Given the description of an element on the screen output the (x, y) to click on. 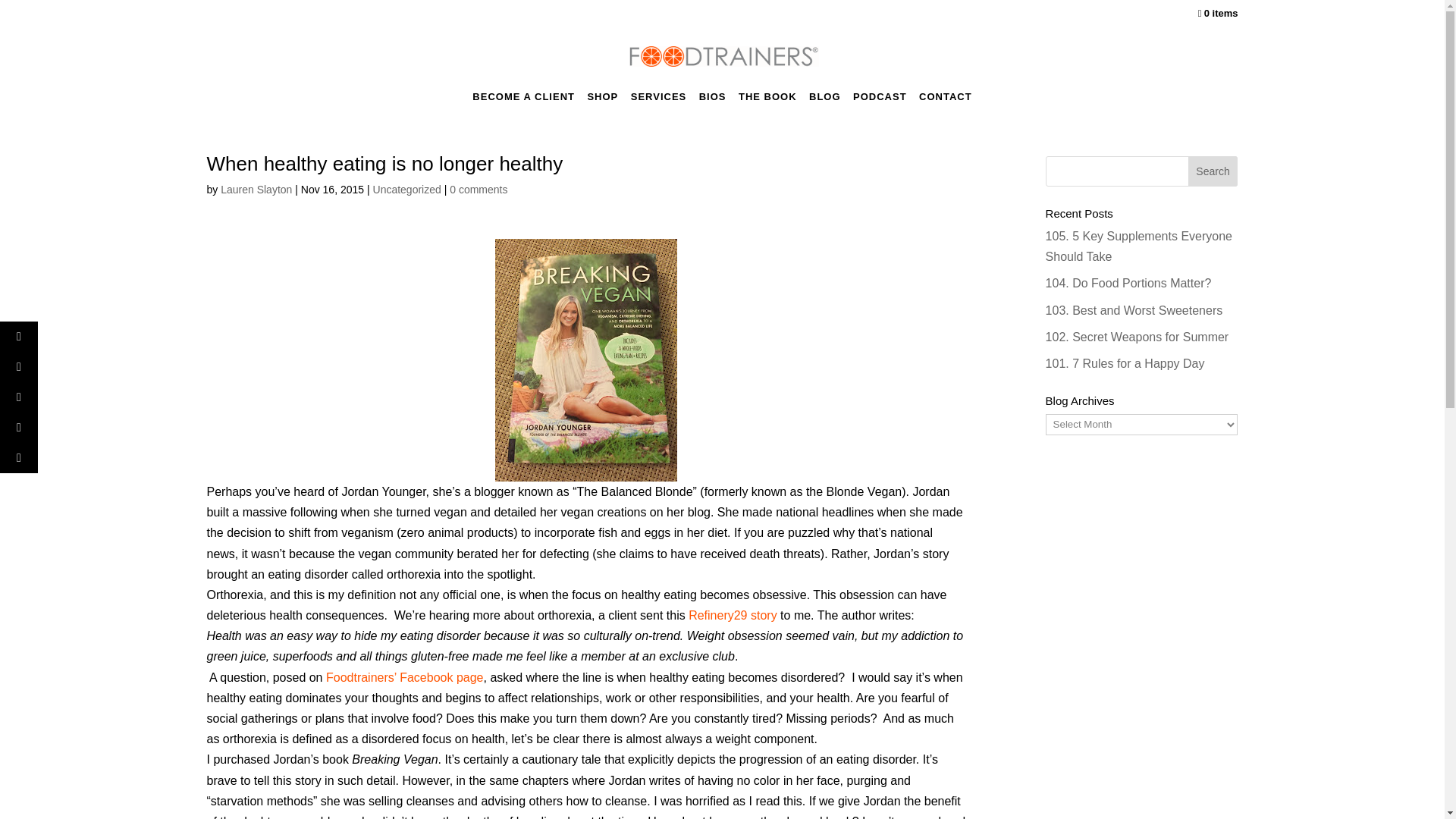
Lauren Slayton (256, 189)
101. 7 Rules for a Happy Day (1125, 363)
SHOP (601, 101)
SERVICES (658, 101)
BLOG (825, 101)
THE BOOK (767, 101)
Search (1213, 171)
0 comments (477, 189)
Search (1213, 171)
103. Best and Worst Sweeteners (1134, 309)
